Given the description of an element on the screen output the (x, y) to click on. 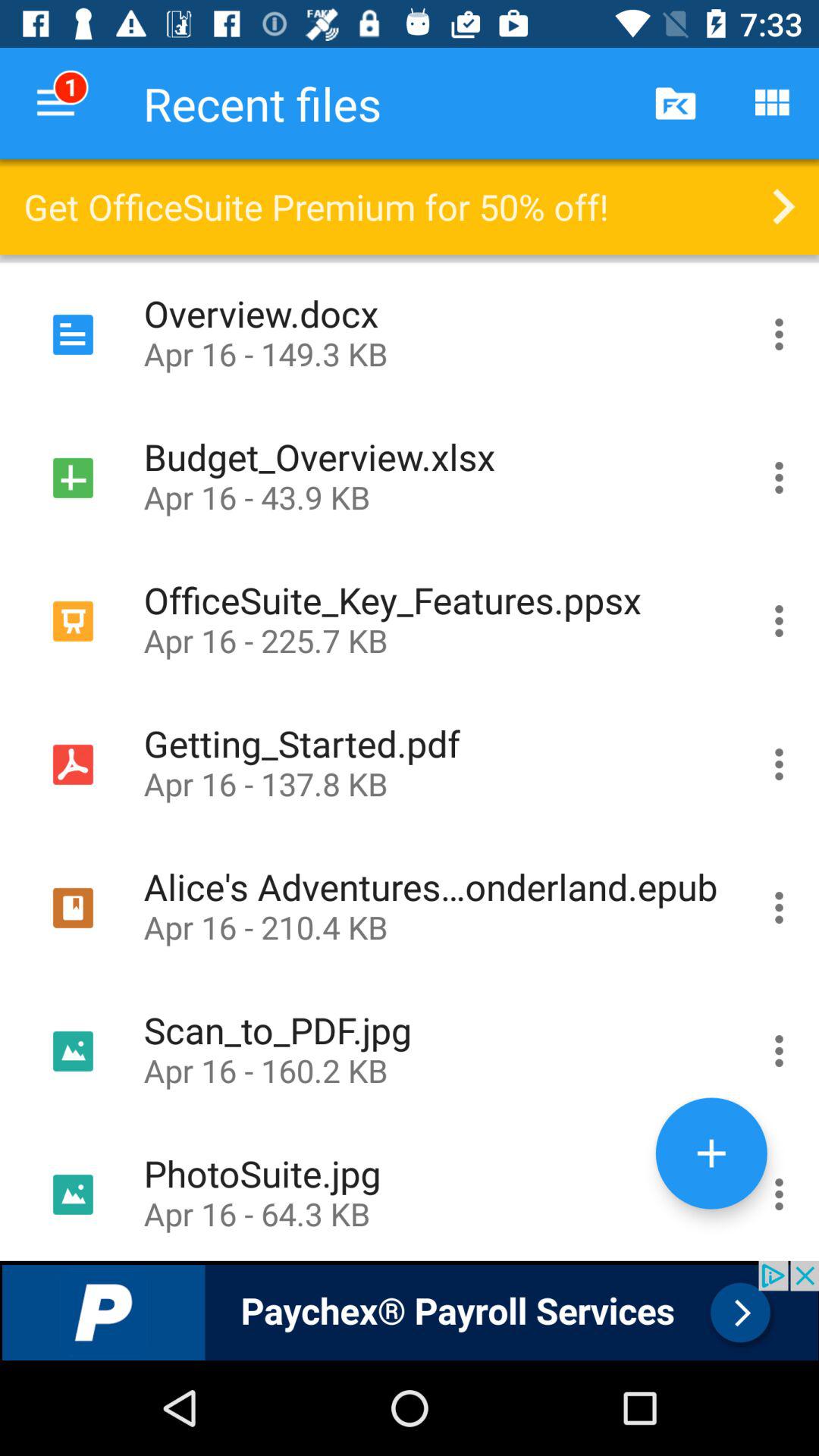
add file (711, 1153)
